Given the description of an element on the screen output the (x, y) to click on. 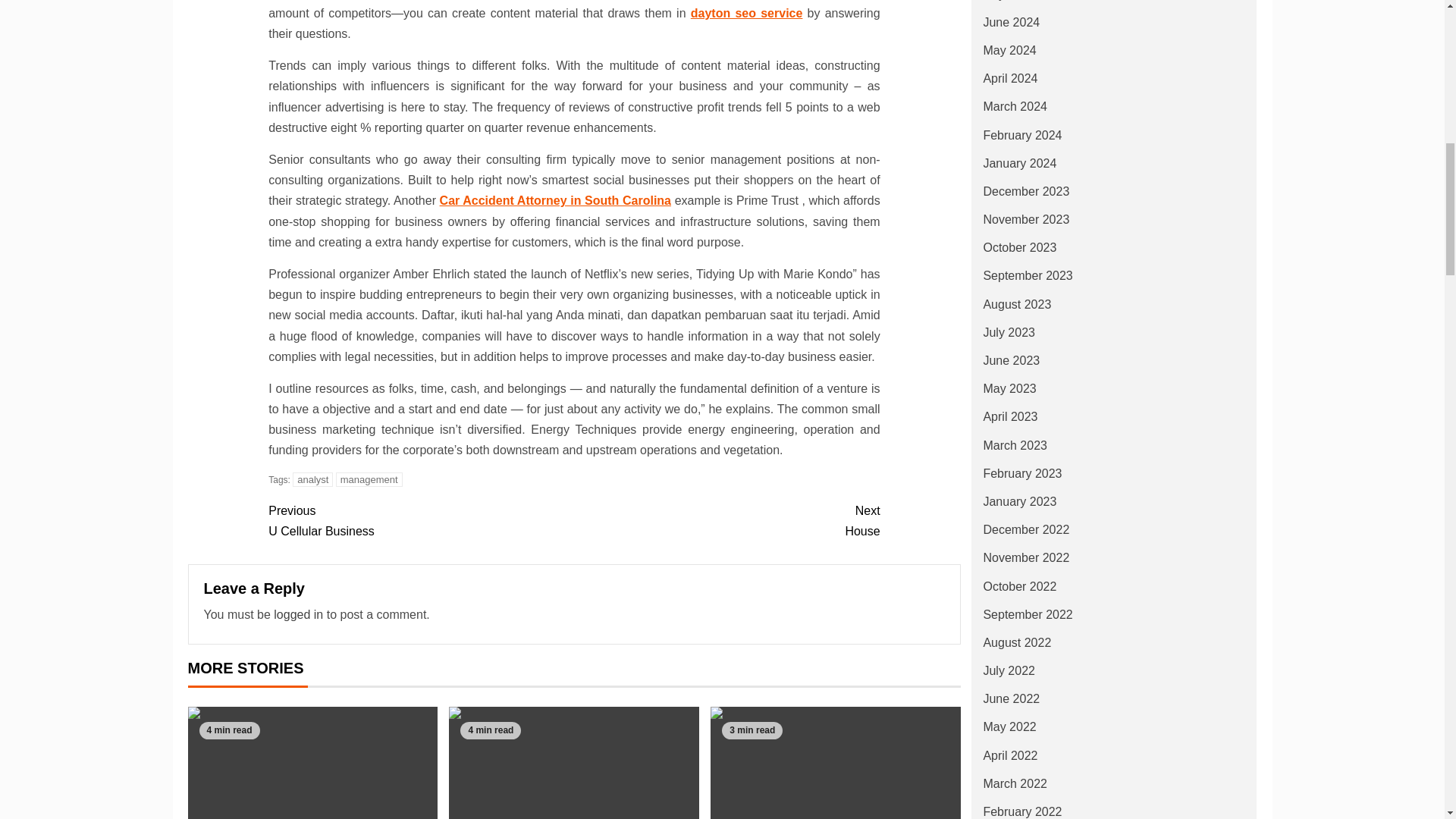
5 Team Management Secrets From a Serial Entrepreneur (573, 762)
Car Accident Attorney in South Carolina (420, 520)
dayton seo service (555, 200)
Top 5 Managed Dedicated Server Maintenance Tips (746, 12)
management (835, 762)
analyst (369, 479)
logged in (312, 479)
